Given the description of an element on the screen output the (x, y) to click on. 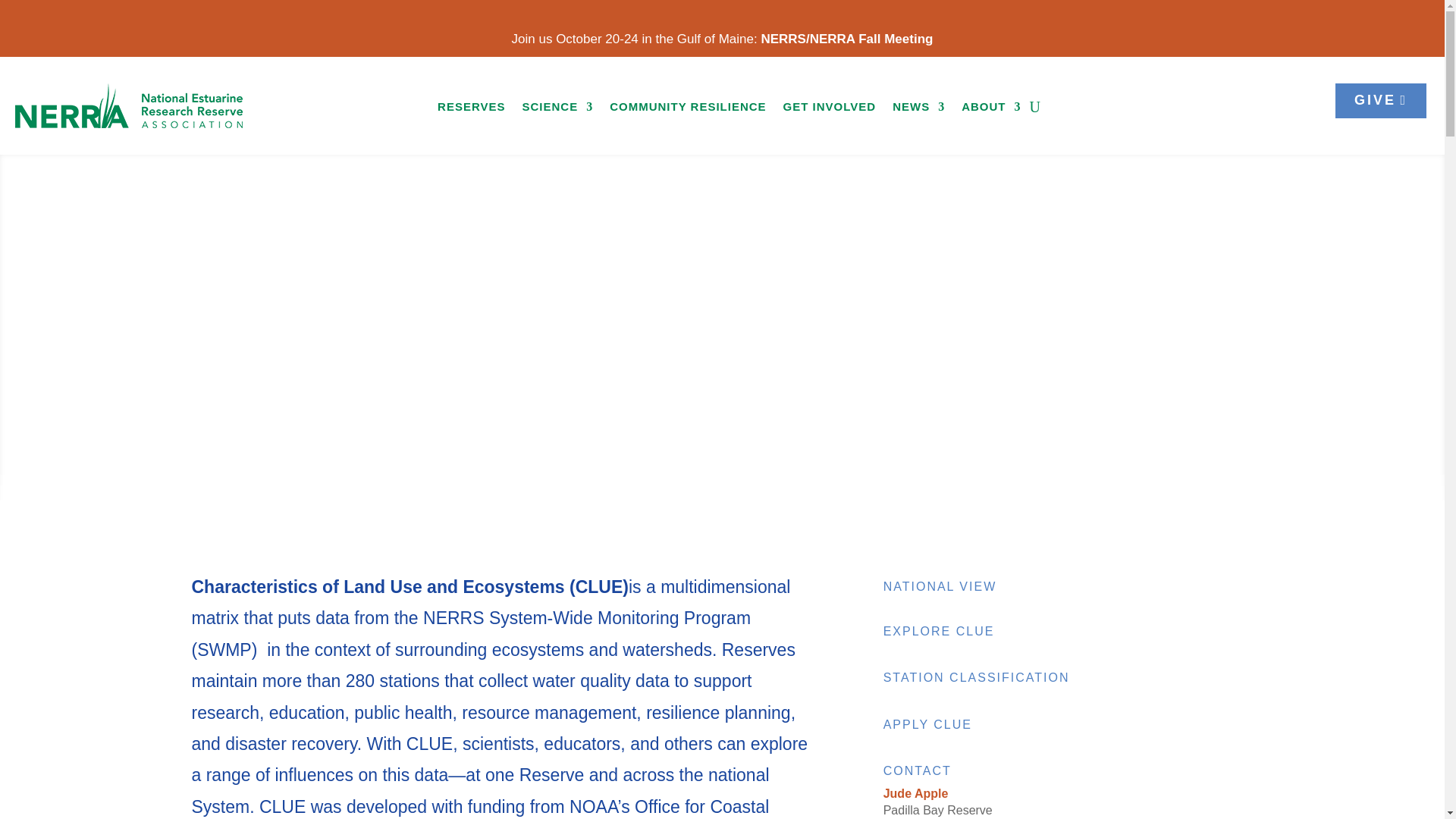
GIVE (1380, 100)
APPLY CLUE (927, 724)
COMMUNITY RESILIENCE (687, 109)
ABOUT (990, 109)
Jude Apple (916, 793)
RESERVES (471, 109)
NATIONAL VIEW (940, 585)
NEWS (918, 109)
NERRA logo (128, 105)
GET INVOLVED (829, 109)
